Given the description of an element on the screen output the (x, y) to click on. 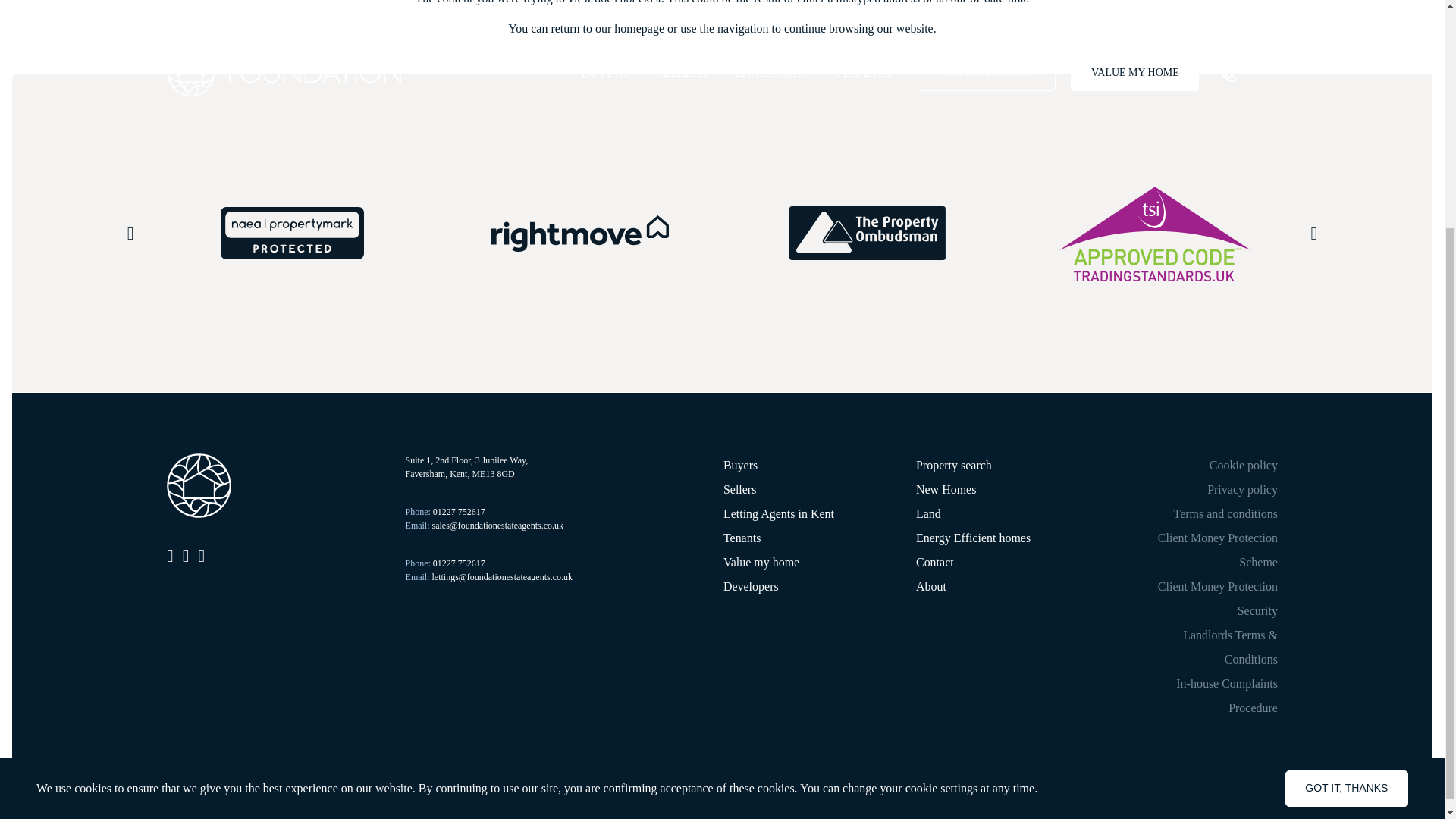
return to our homepage (608, 28)
Phone: 01227 752617 (445, 511)
